Given the description of an element on the screen output the (x, y) to click on. 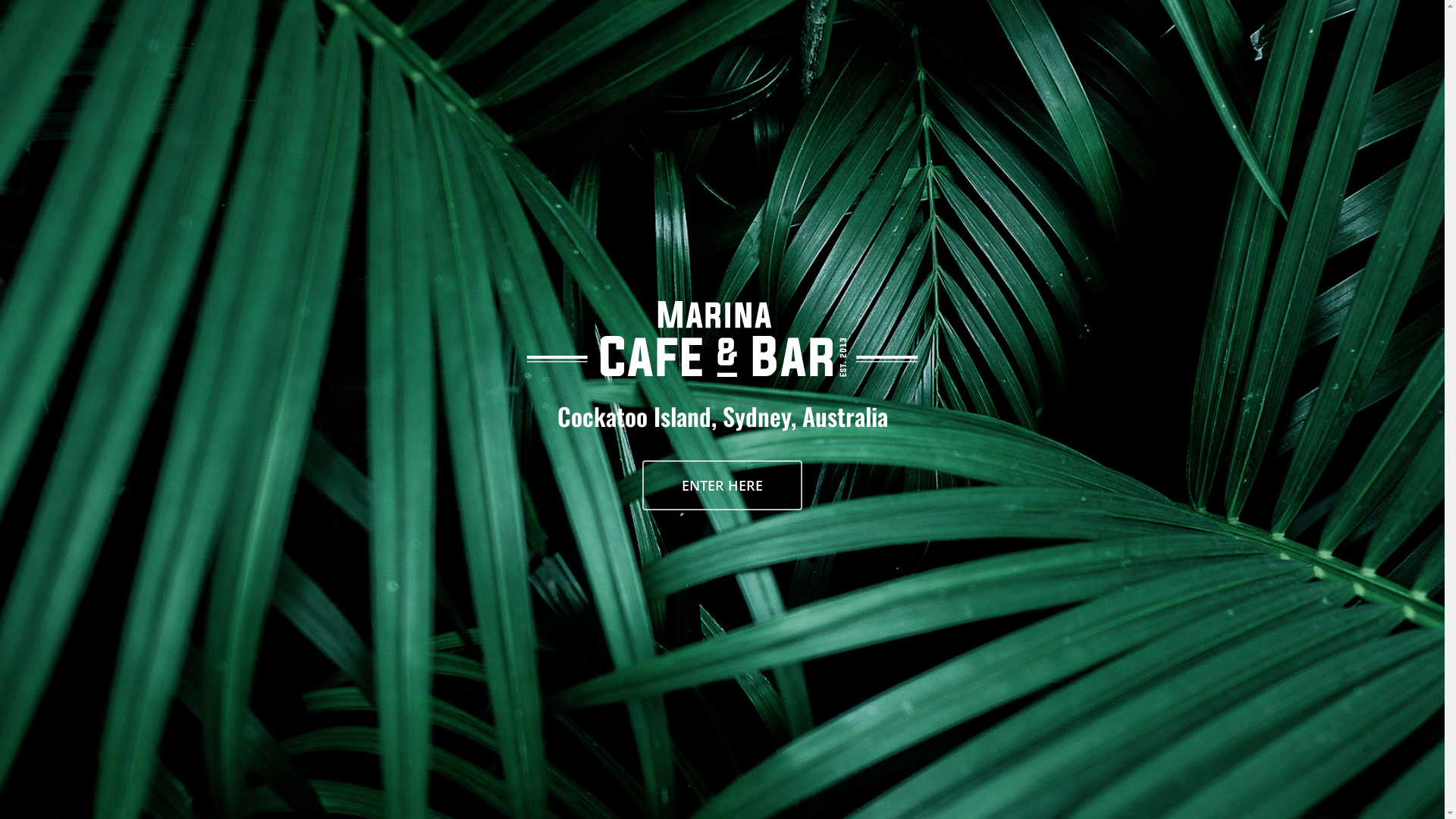
ENTER HERE Element type: text (722, 485)
